Given the description of an element on the screen output the (x, y) to click on. 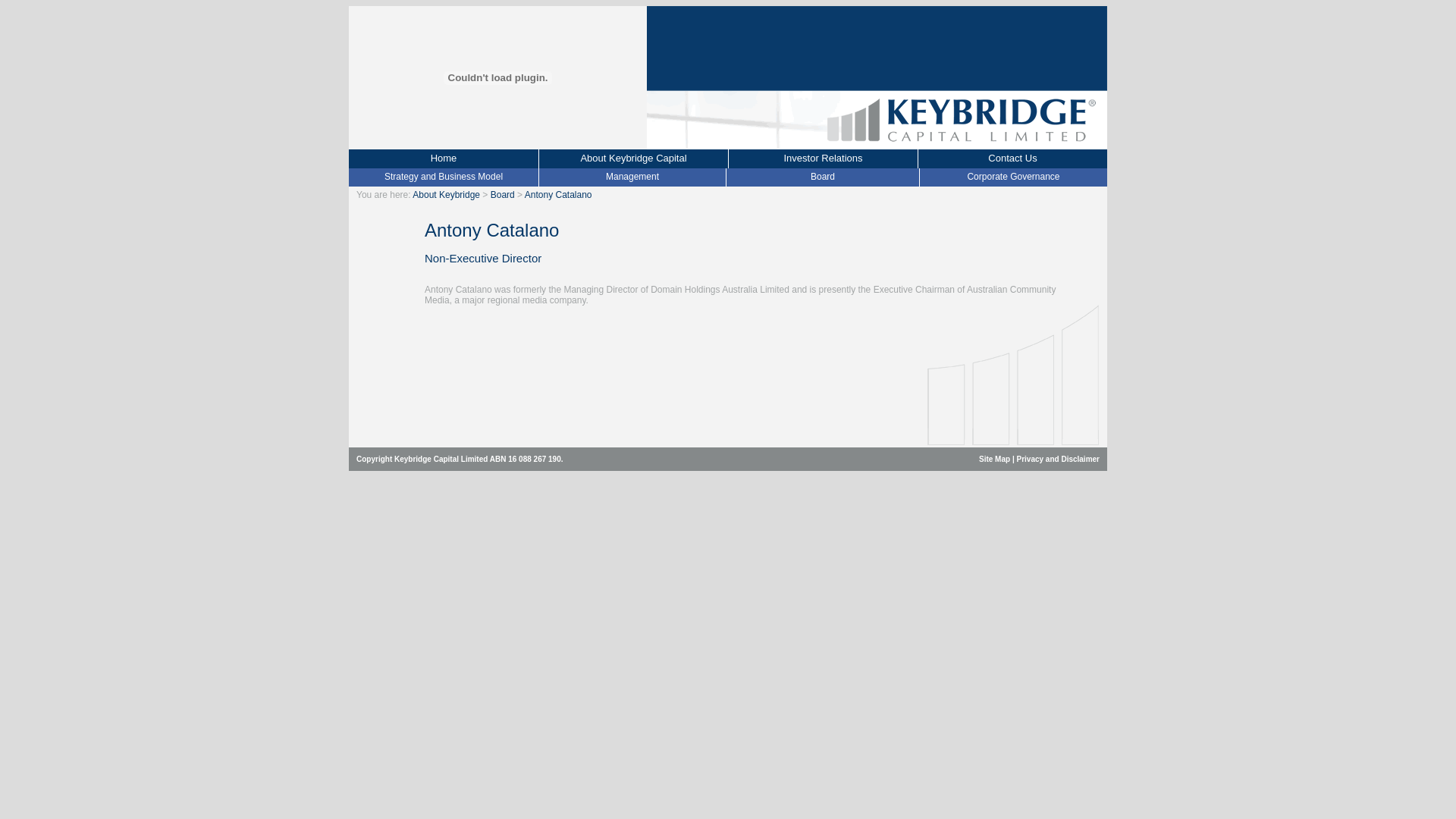
Corporate Governance Element type: text (1012, 176)
Management Element type: text (631, 176)
Antony Catalano Element type: text (558, 194)
About Keybridge Element type: text (446, 194)
Board Element type: text (502, 194)
Investor Relations Element type: text (822, 158)
Site Map Element type: text (994, 459)
Strategy and Business Model Element type: text (443, 176)
Contact Us Element type: text (1012, 158)
Privacy and Disclaimer Element type: text (1057, 459)
Keybridge Capital Limited Element type: hover (497, 144)
Home Element type: text (443, 158)
About Keybridge Capital Element type: text (633, 158)
Board Element type: text (822, 176)
